Given the description of an element on the screen output the (x, y) to click on. 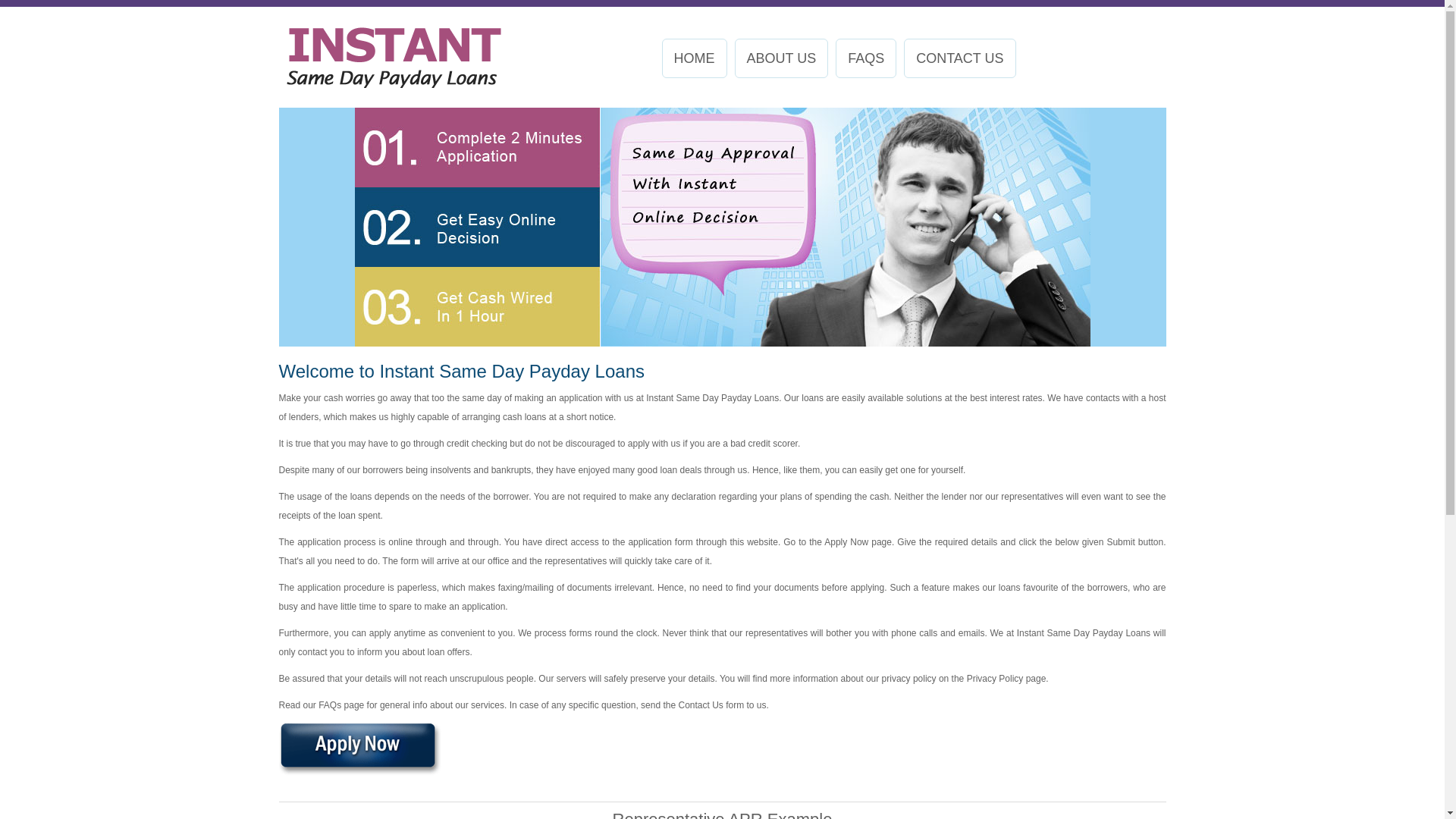
FAQS Element type: text (865, 58)
HOME Element type: text (693, 58)
CONTACT US Element type: text (959, 58)
ABOUT US Element type: text (781, 58)
